Given the description of an element on the screen output the (x, y) to click on. 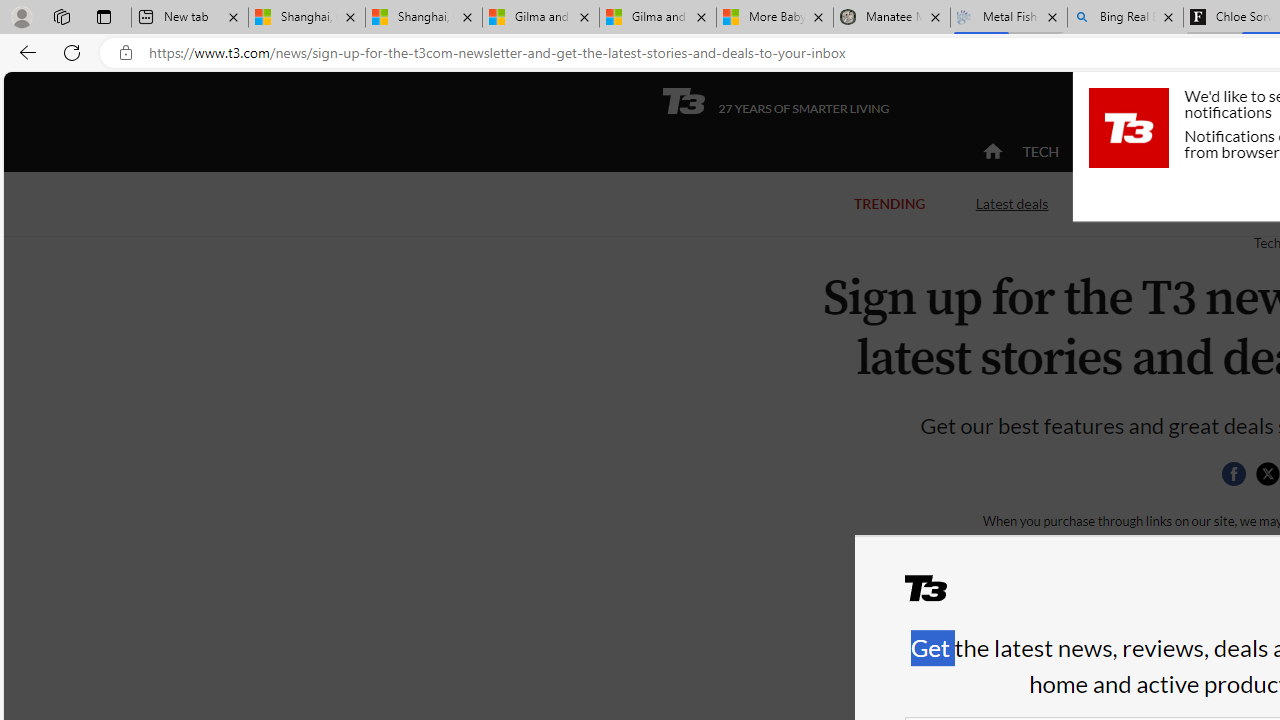
TECH (1040, 151)
HOME LIVING (1233, 151)
Bing Real Estate - Home sales and rental listings (1124, 17)
